Given the description of an element on the screen output the (x, y) to click on. 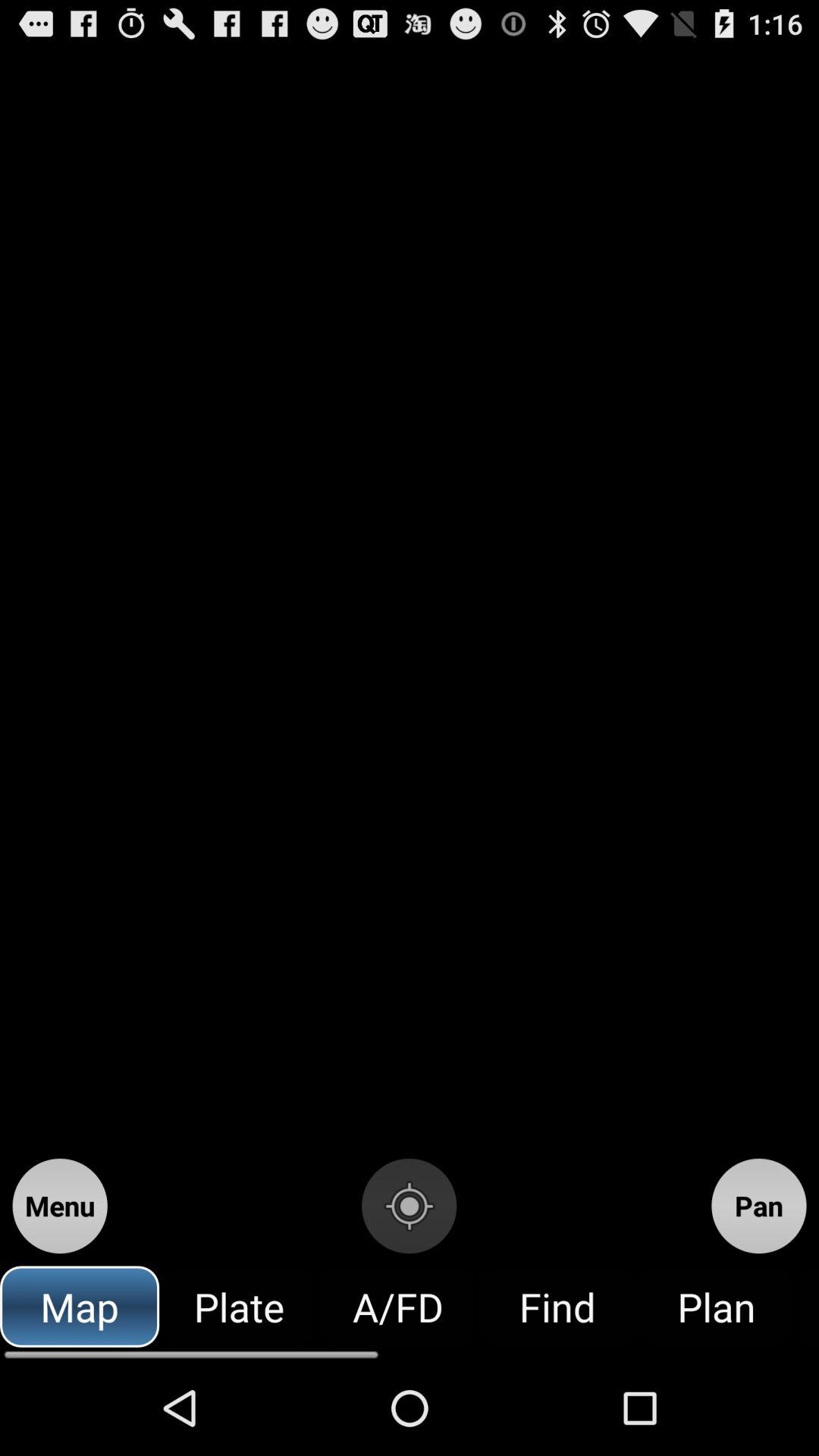
select the icon above plan icon (758, 1205)
